Given the description of an element on the screen output the (x, y) to click on. 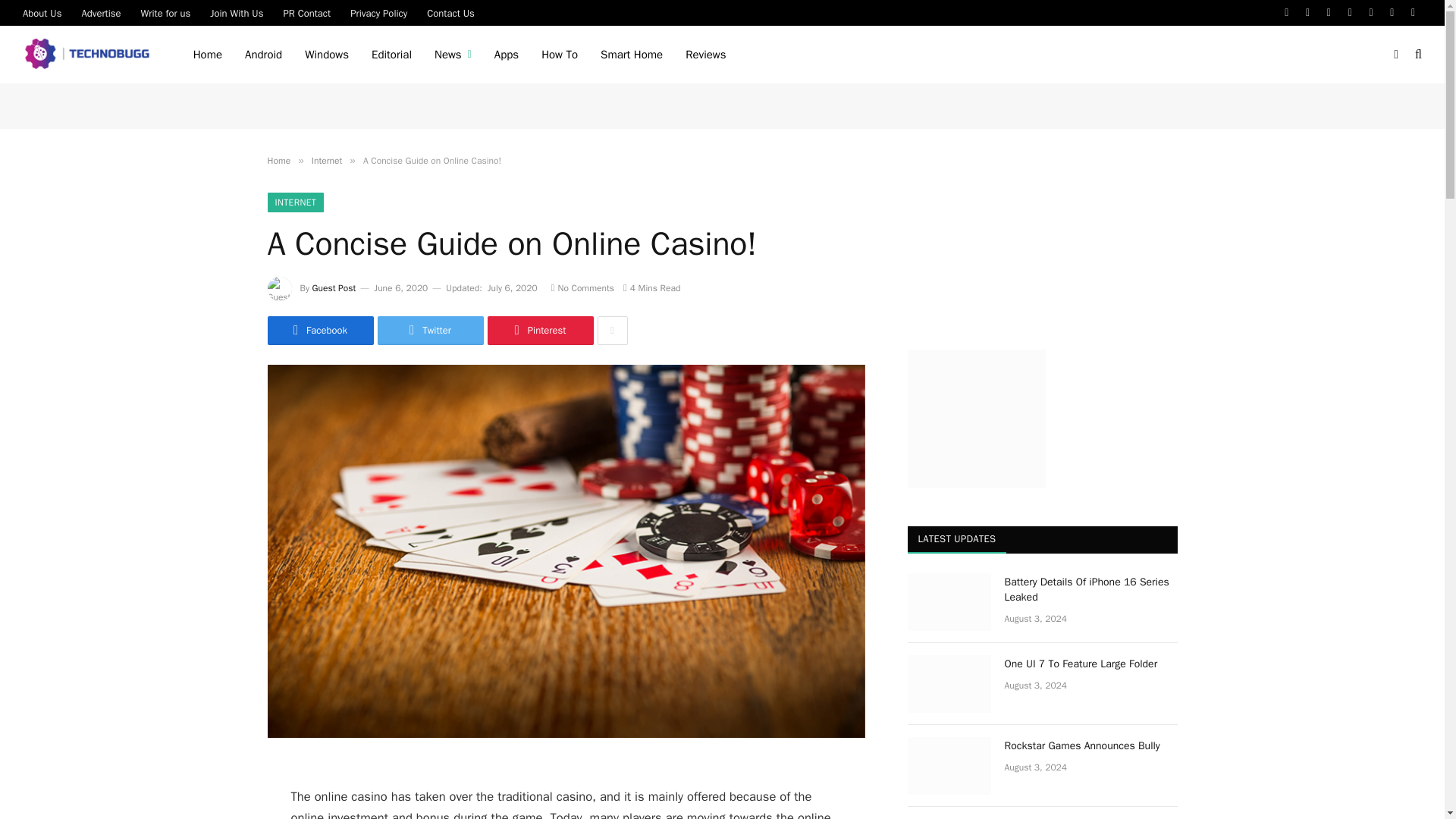
Android (263, 54)
Privacy Policy (378, 12)
Advertise (101, 12)
About Us (42, 12)
Write for us (165, 12)
Windows (326, 54)
Share on Facebook (319, 330)
Smart Home (631, 54)
Switch to Dark Design - easier on eyes. (1396, 54)
Posts by Guest Post (334, 287)
TechnoBugg (89, 54)
Home (207, 54)
Reviews (705, 54)
Join With Us (236, 12)
Contact Us (450, 12)
